Given the description of an element on the screen output the (x, y) to click on. 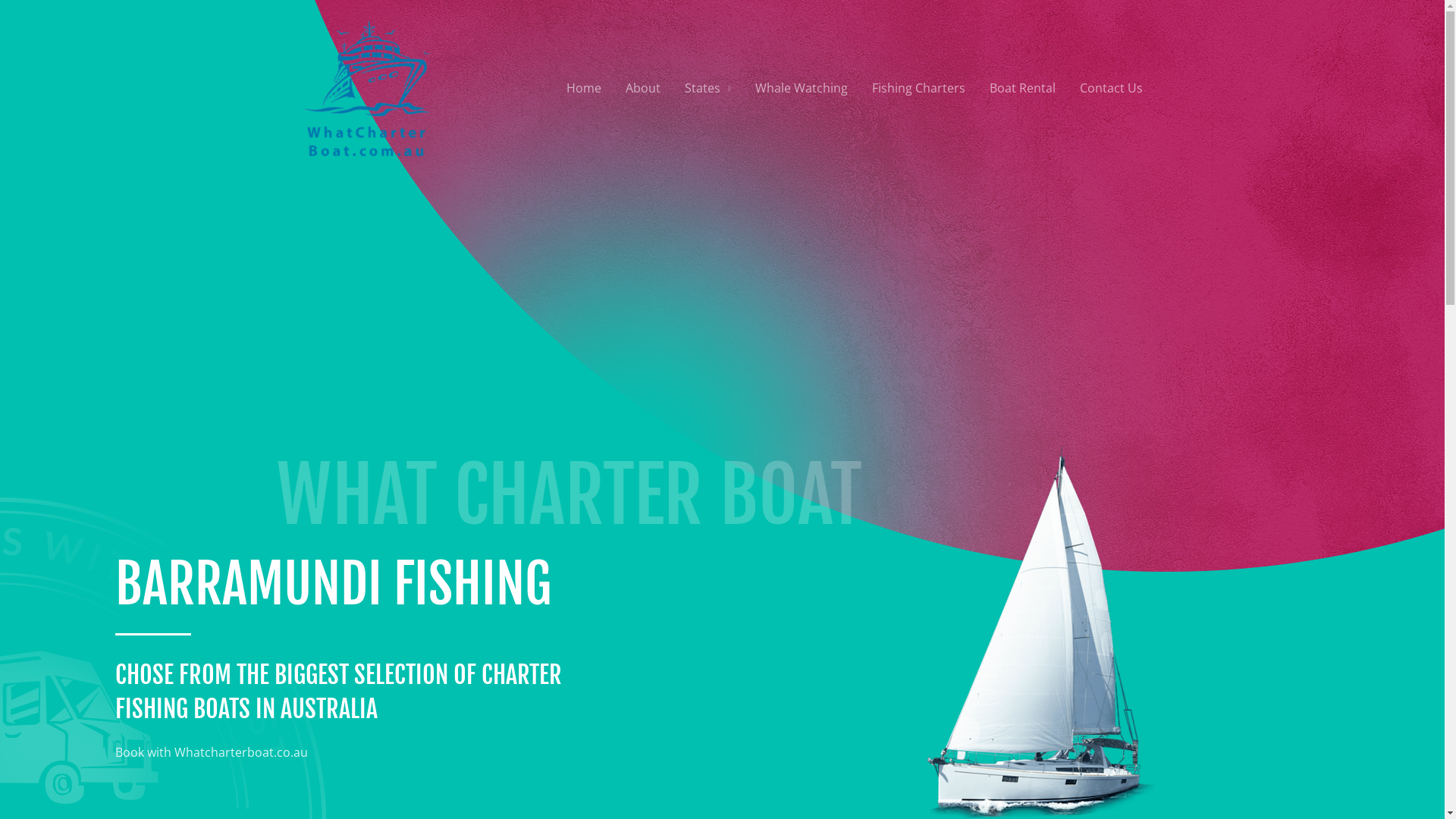
Whale Watching Element type: text (801, 87)
Boat Rental Element type: text (1021, 87)
Contact Us Element type: text (1110, 87)
Fishing Charters Element type: text (918, 87)
Home Element type: text (583, 87)
States Element type: text (707, 87)
About Element type: text (642, 87)
